Given the description of an element on the screen output the (x, y) to click on. 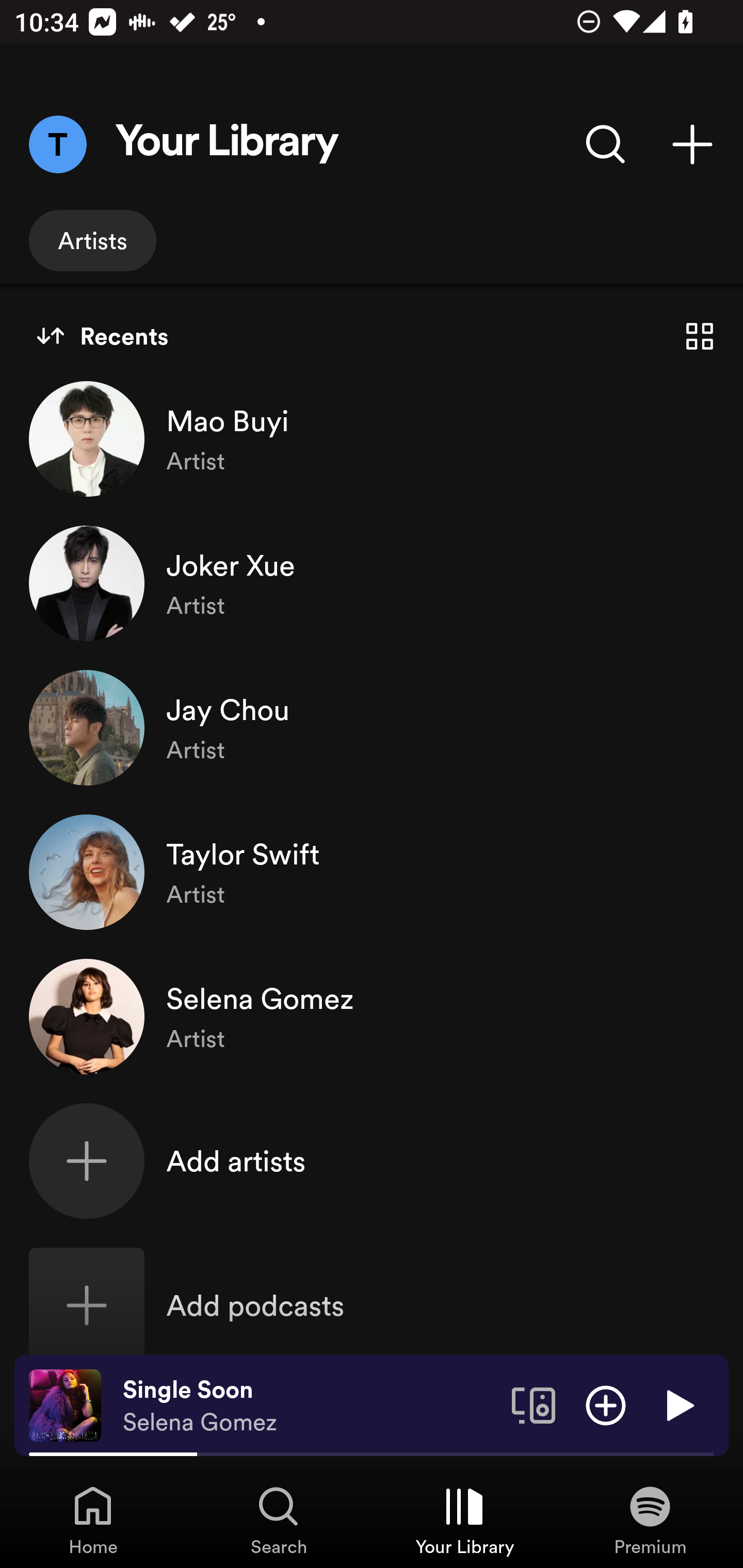
Menu (57, 144)
Search Your Library (605, 144)
Create playlist (692, 144)
Your Library Your Library Heading (226, 144)
Artists, show only artists. (92, 240)
Recents (101, 336)
Show Grid view (699, 336)
Mao Buyi, Artist,  Mao Buyi Artist (371, 439)
Joker Xue, Artist,  Joker Xue Artist (371, 583)
Jay Chou, Artist,  Jay Chou Artist (371, 727)
Taylor Swift, Artist,  Taylor Swift Artist (371, 871)
Selena Gomez, Artist,  Selena Gomez Artist (371, 1016)
Add artists,  Add artists (371, 1160)
Add podcasts,  Add podcasts (371, 1305)
Single Soon Selena Gomez (309, 1405)
The cover art of the currently playing track (64, 1404)
Connect to a device. Opens the devices menu (533, 1404)
Add item (605, 1404)
Play (677, 1404)
Home, Tab 1 of 4 Home Home (92, 1519)
Search, Tab 2 of 4 Search Search (278, 1519)
Your Library, Tab 3 of 4 Your Library Your Library (464, 1519)
Premium, Tab 4 of 4 Premium Premium (650, 1519)
